Given the description of an element on the screen output the (x, y) to click on. 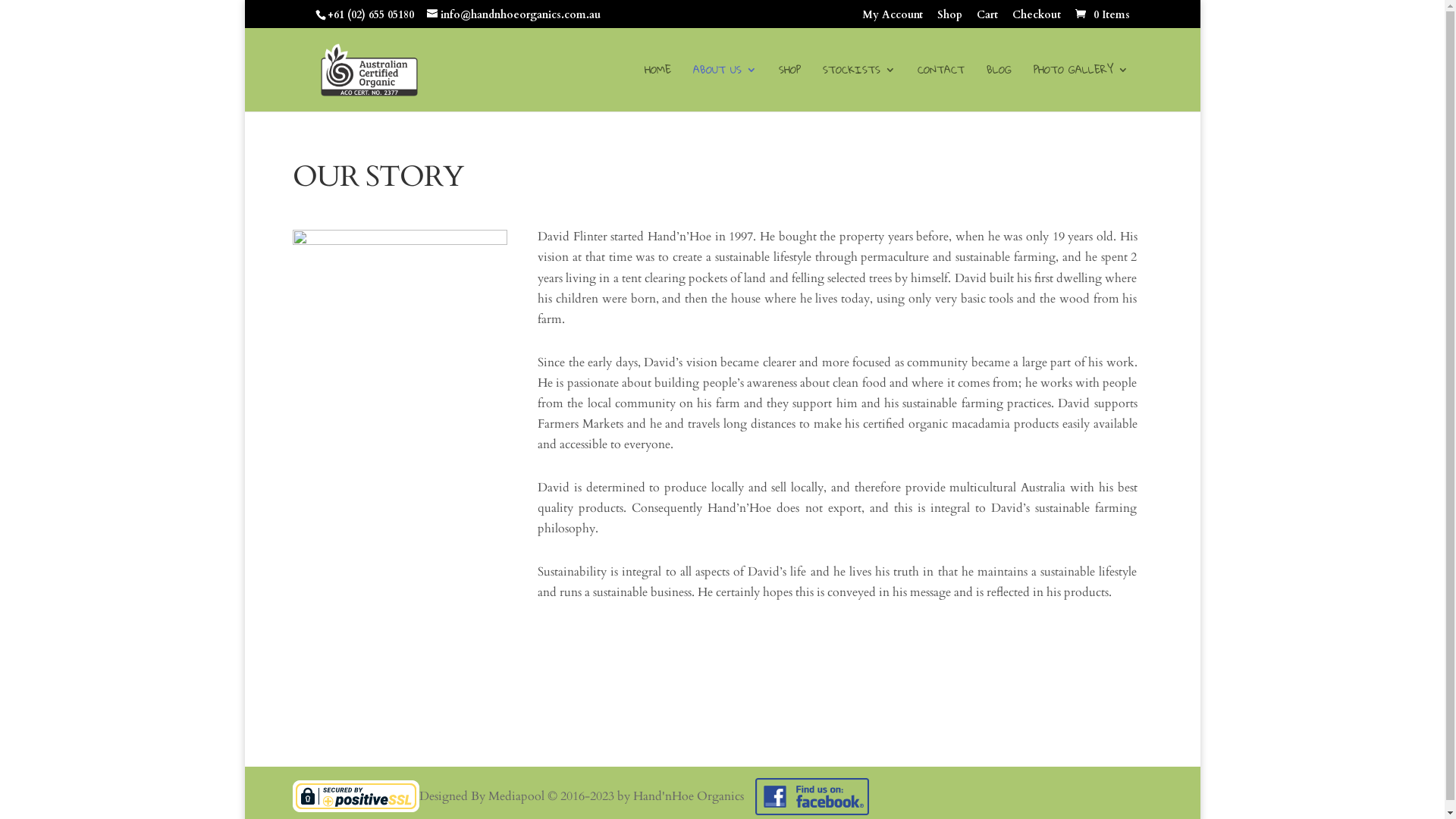
HOME Element type: text (657, 87)
ABOUT US Element type: text (724, 87)
PHOTO GALLERY Element type: text (1079, 87)
My Account Element type: text (891, 18)
Checkout Element type: text (1035, 18)
STOCKISTS Element type: text (858, 87)
SHOP Element type: text (789, 87)
BLOG Element type: text (997, 87)
CONTACT Element type: text (940, 87)
Shop Element type: text (949, 18)
info@handnhoeorganics.com.au Element type: text (512, 14)
0 Items Element type: text (1100, 14)
Cart Element type: text (986, 18)
